Given the description of an element on the screen output the (x, y) to click on. 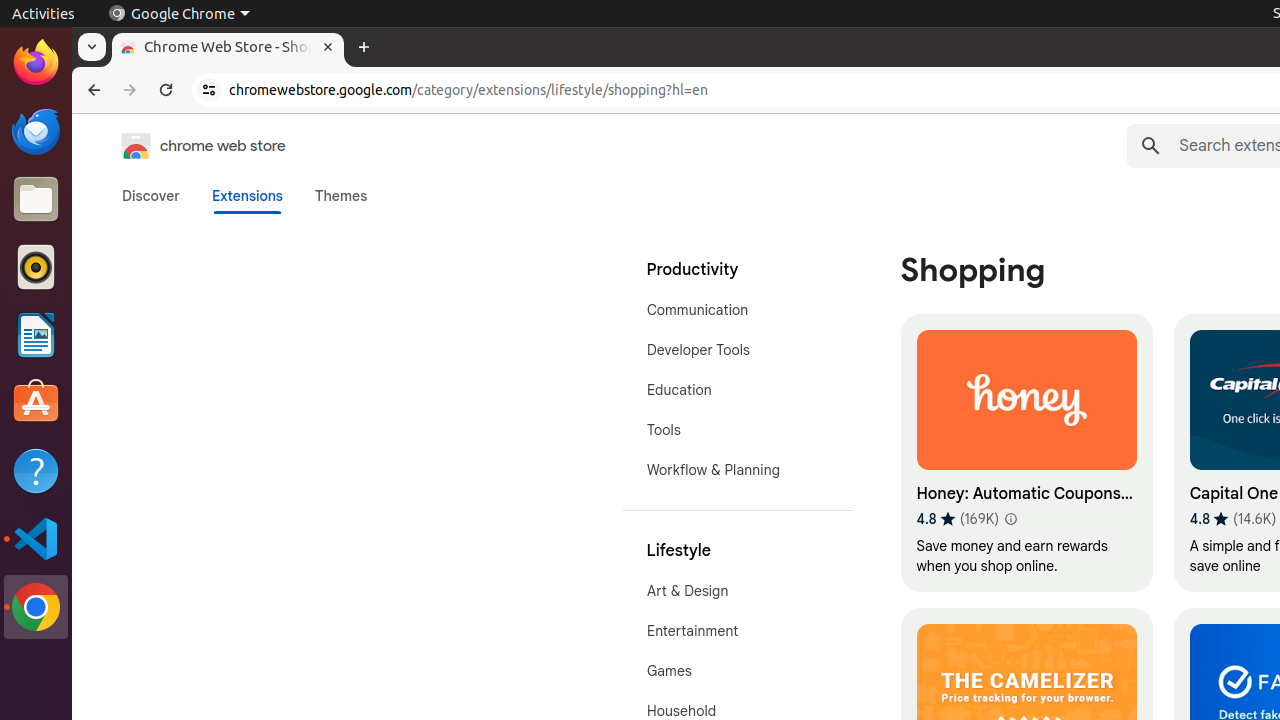
View site information Element type: push-button (209, 90)
Back Element type: push-button (91, 90)
Lifestyle Element type: menu-item (737, 551)
Reload Element type: push-button (166, 90)
New Tab Element type: push-button (364, 47)
